Given the description of an element on the screen output the (x, y) to click on. 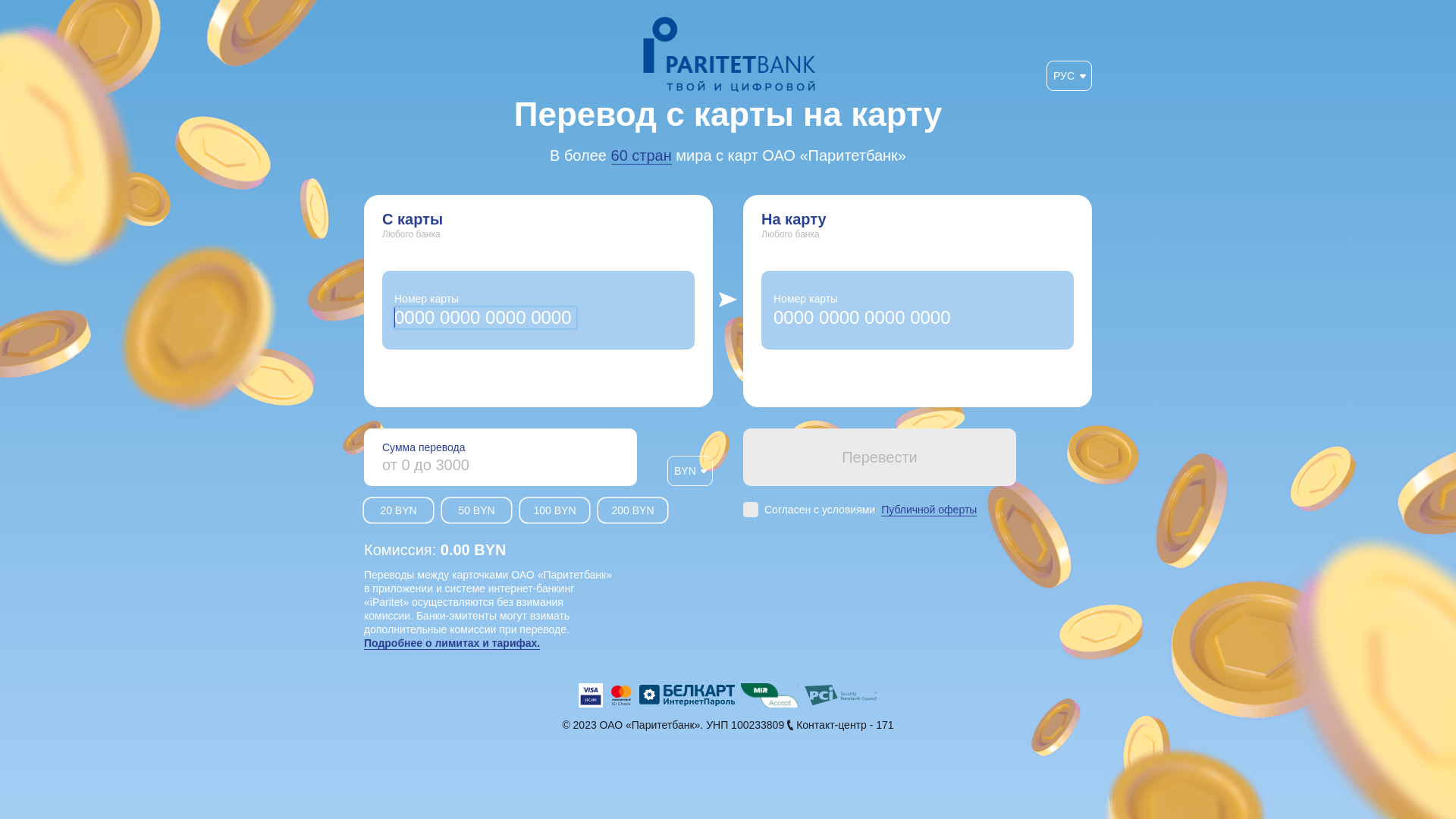
50 BYN Element type: text (476, 510)
20 BYN Element type: text (398, 510)
200 BYN Element type: text (632, 510)
100 BYN Element type: text (554, 510)
